Given the description of an element on the screen output the (x, y) to click on. 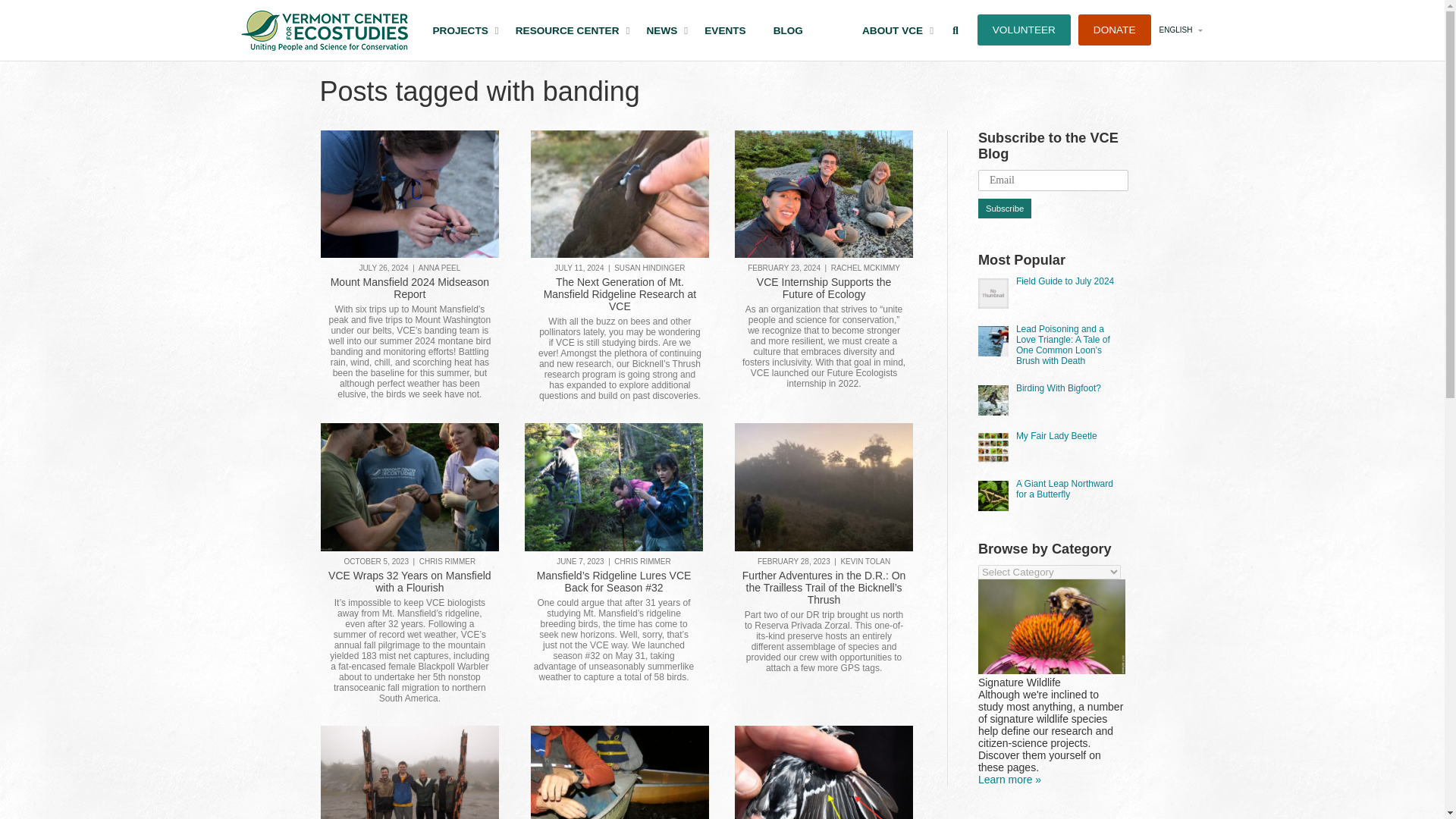
RESOURCE CENTER (1002, 30)
subscribe (567, 30)
NEWS (1004, 208)
PROJECTS (660, 30)
